Given the description of an element on the screen output the (x, y) to click on. 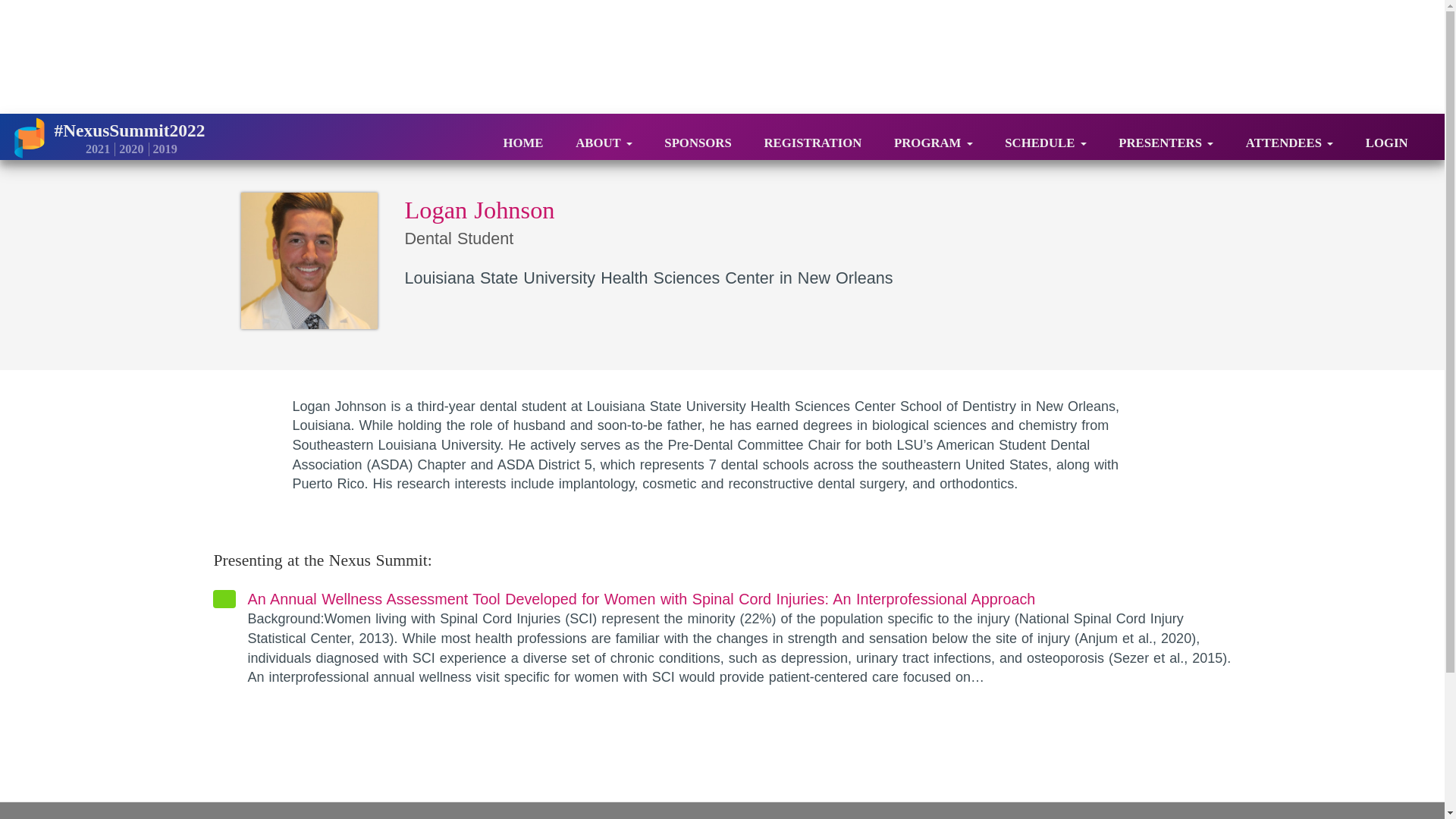
SPONSORS (697, 137)
ABOUT (603, 137)
REGISTRATION (812, 137)
PROGRAM (933, 137)
SCHEDULE (1044, 137)
PRESENTERS (1165, 137)
Student Poster (738, 637)
2019 (162, 149)
2021 (95, 149)
HOME (523, 137)
